Given the description of an element on the screen output the (x, y) to click on. 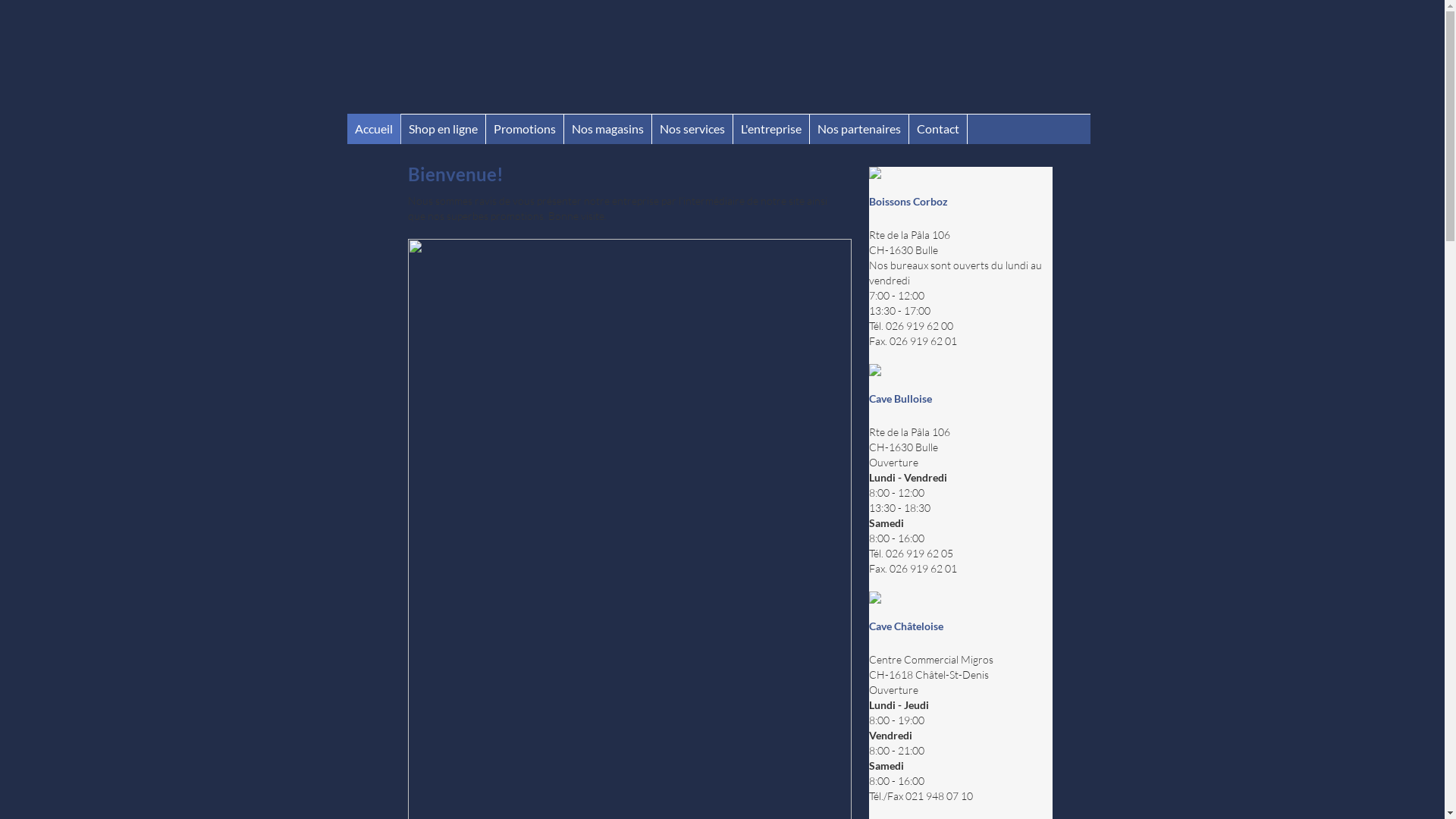
Contact Element type: text (937, 128)
Nos services Element type: text (691, 128)
Shop en ligne Element type: text (441, 128)
Accueil Element type: text (373, 128)
Nos magasins Element type: text (607, 128)
Promotions Element type: text (523, 128)
L'entreprise Element type: text (770, 128)
Nos partenaires Element type: text (858, 128)
